Given the description of an element on the screen output the (x, y) to click on. 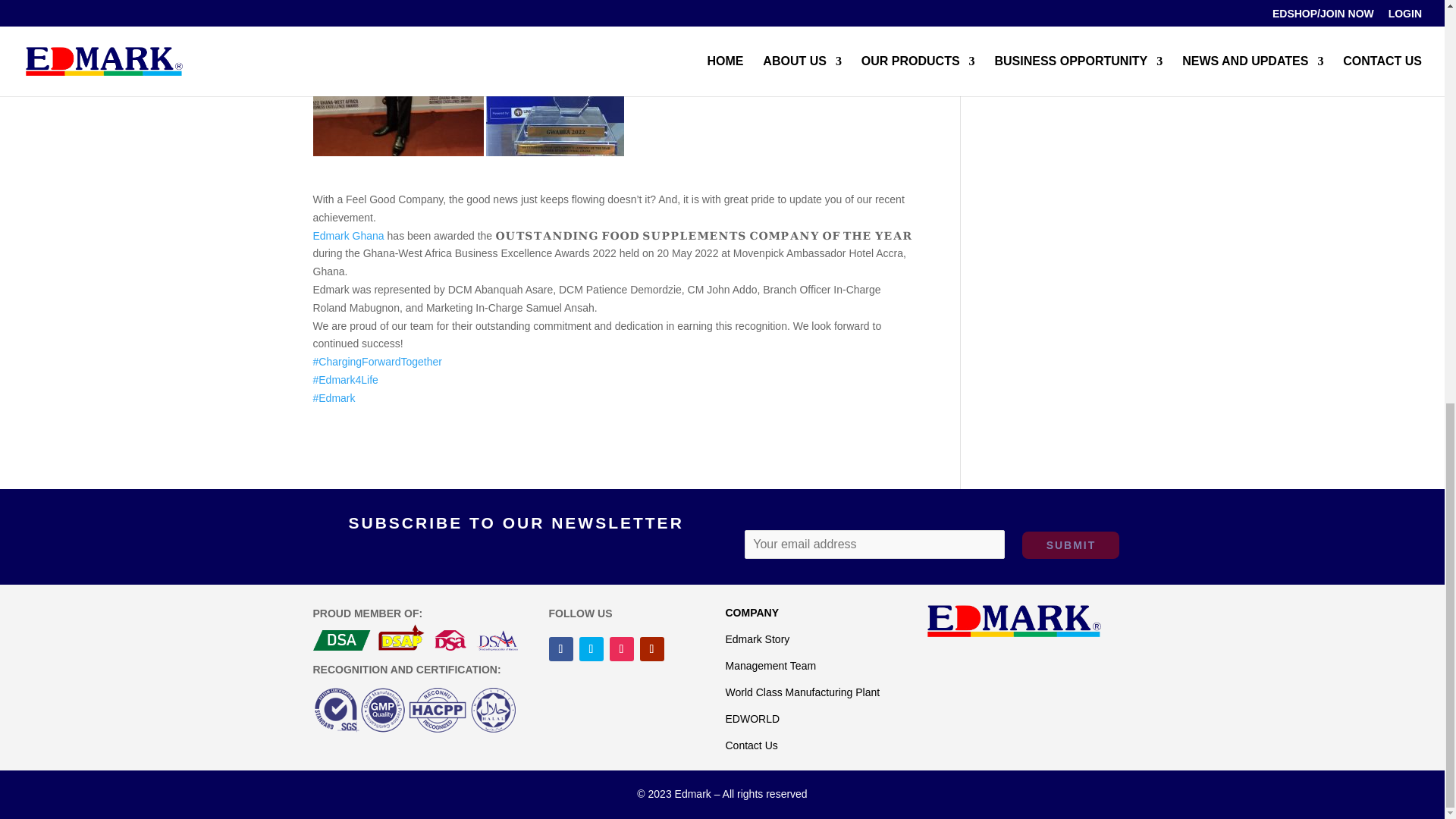
Follow on Youtube (651, 648)
Follow on Instagram (621, 648)
Proud Member (414, 637)
202157-11145 (414, 712)
Follow on Twitter (591, 648)
edmark-logo (1013, 621)
Follow on Facebook (560, 648)
